Given the description of an element on the screen output the (x, y) to click on. 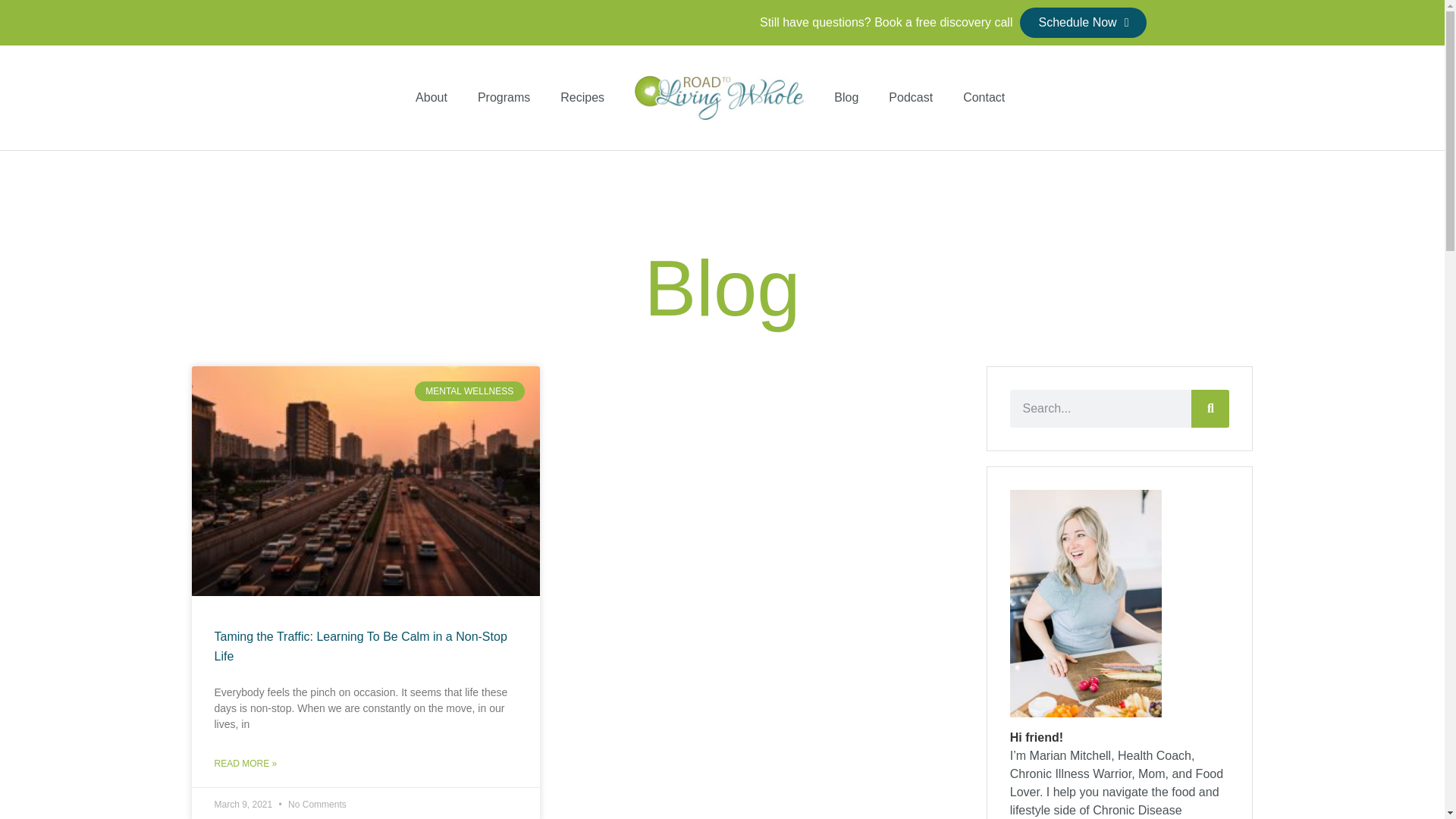
Search (1209, 408)
Recipes (582, 97)
Schedule Now (1083, 22)
About (431, 97)
Contact (983, 97)
Blog (845, 97)
Taming the Traffic: Learning To Be Calm in a Non-Stop Life (360, 645)
Programs (503, 97)
Podcast (910, 97)
